Given the description of an element on the screen output the (x, y) to click on. 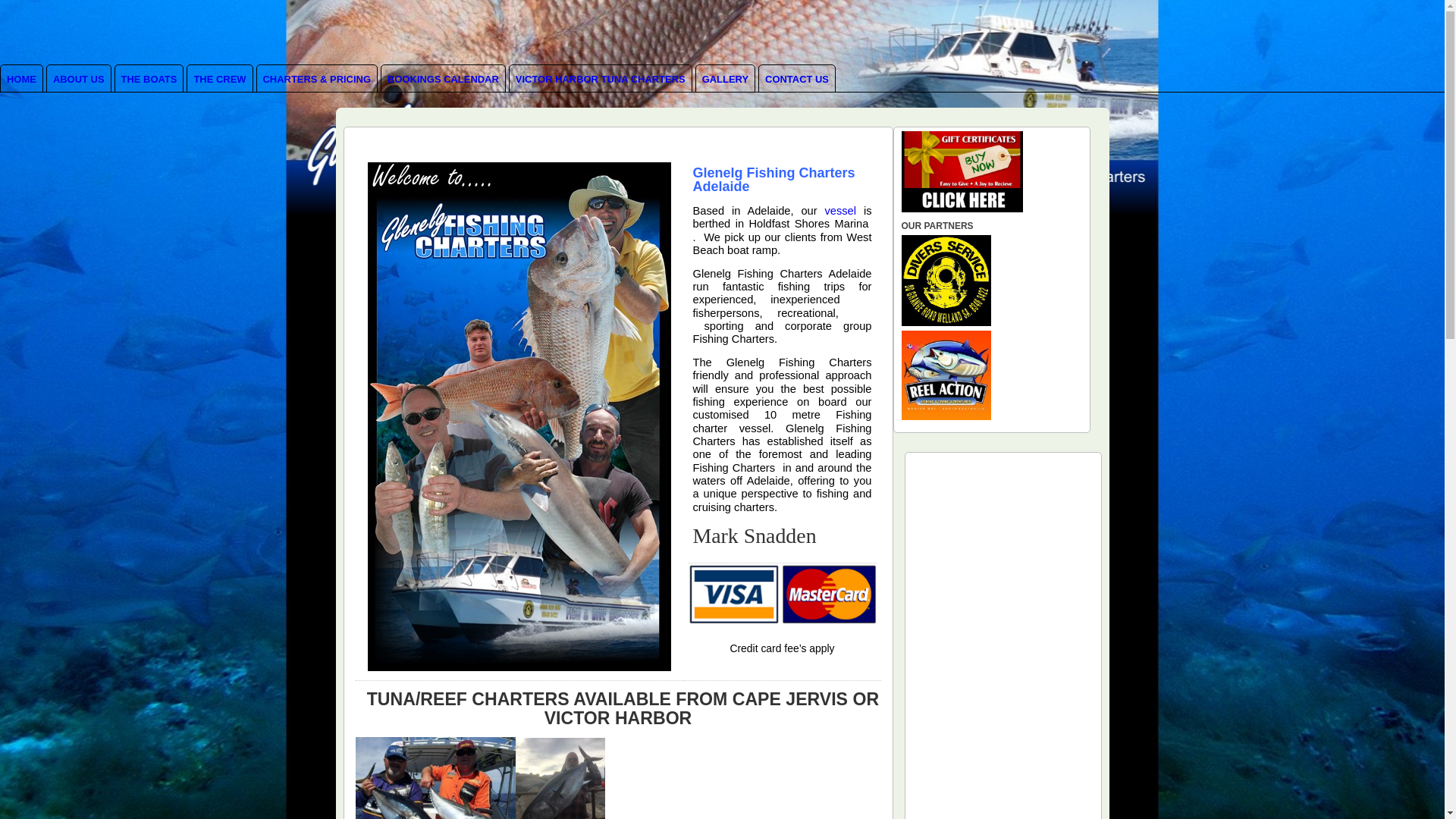
BOOKINGS CALENDAR Element type: text (443, 78)
CONTACT US Element type: text (796, 78)
THE CREW Element type: text (219, 78)
GALLERY Element type: text (725, 78)
THE BOATS Element type: text (149, 78)
vessel Element type: text (840, 210)
VICTOR HARBOR TUNA CHARTERS Element type: text (600, 78)
CHARTERS & PRICING Element type: text (317, 78)
HOME Element type: text (21, 78)
ABOUT US Element type: text (78, 78)
Front page Element type: hover (519, 416)
OUR PARTNERS Element type: hover (945, 322)
